Given the description of an element on the screen output the (x, y) to click on. 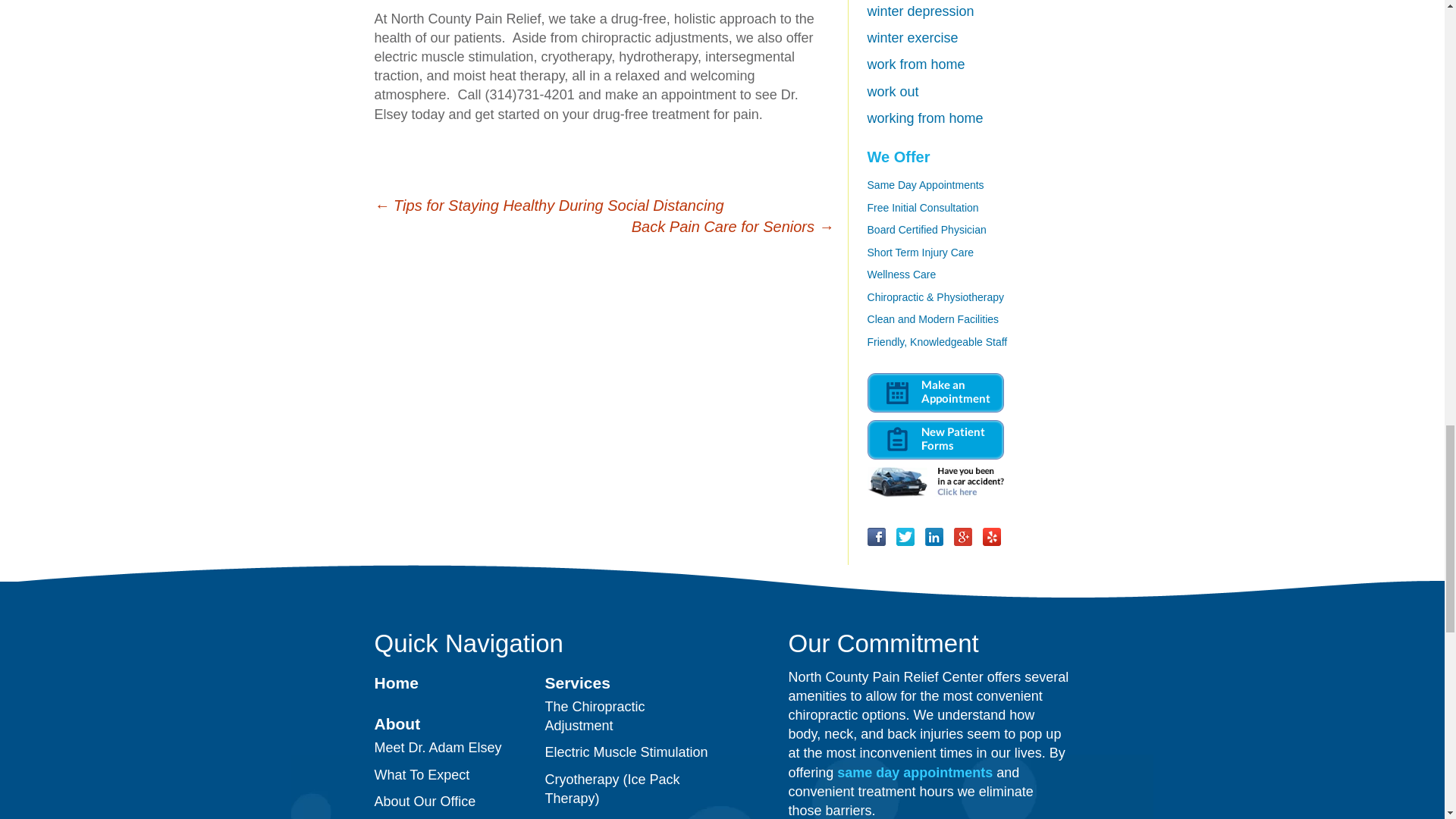
Have you been in a car accident? (935, 480)
Click here for new patient forms (935, 437)
Click here to make an appointment (935, 391)
